Given the description of an element on the screen output the (x, y) to click on. 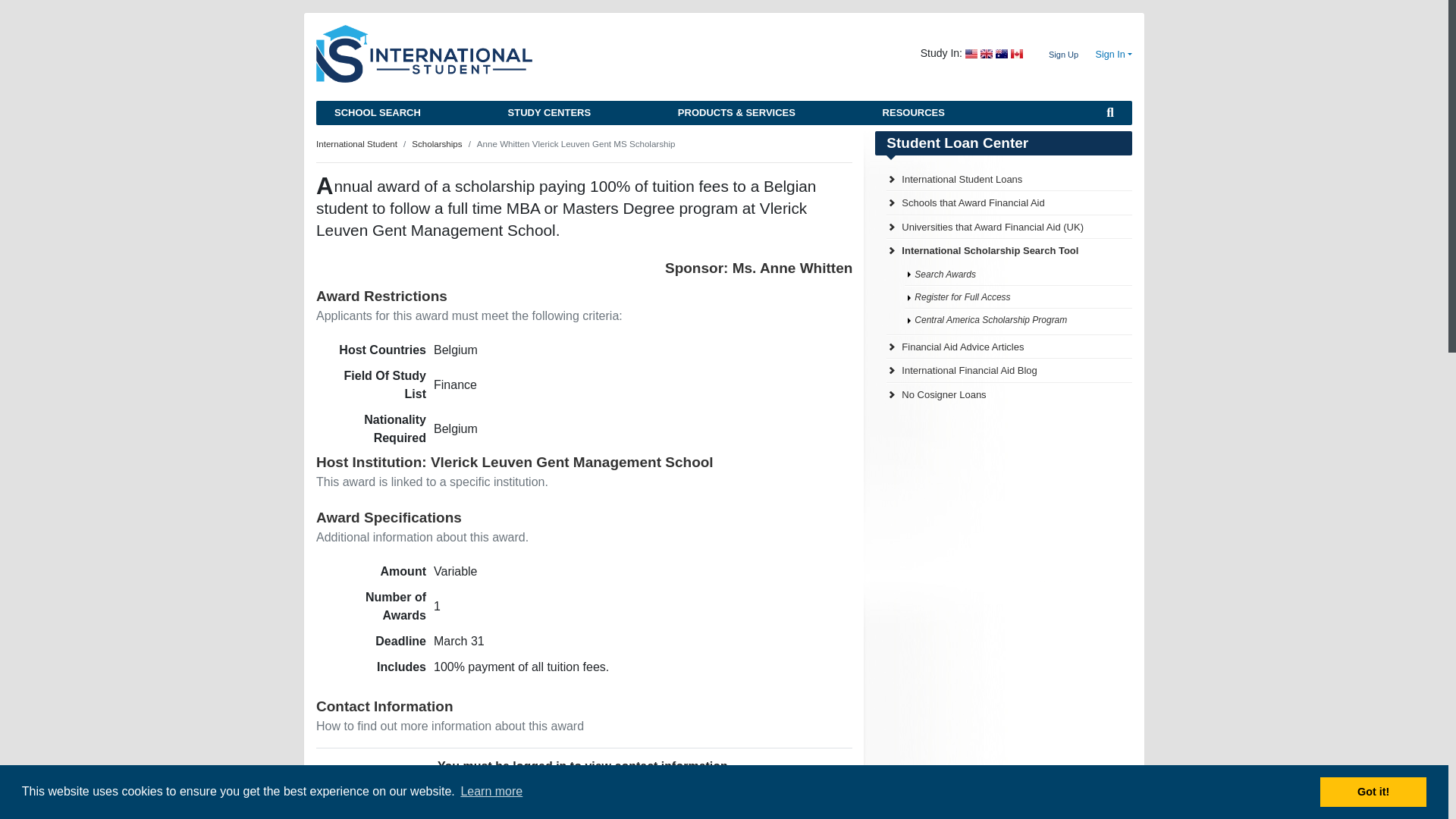
Advertisement (988, 521)
Learn more (491, 791)
Got it! (1373, 791)
Advertisement (1003, 723)
